Given the description of an element on the screen output the (x, y) to click on. 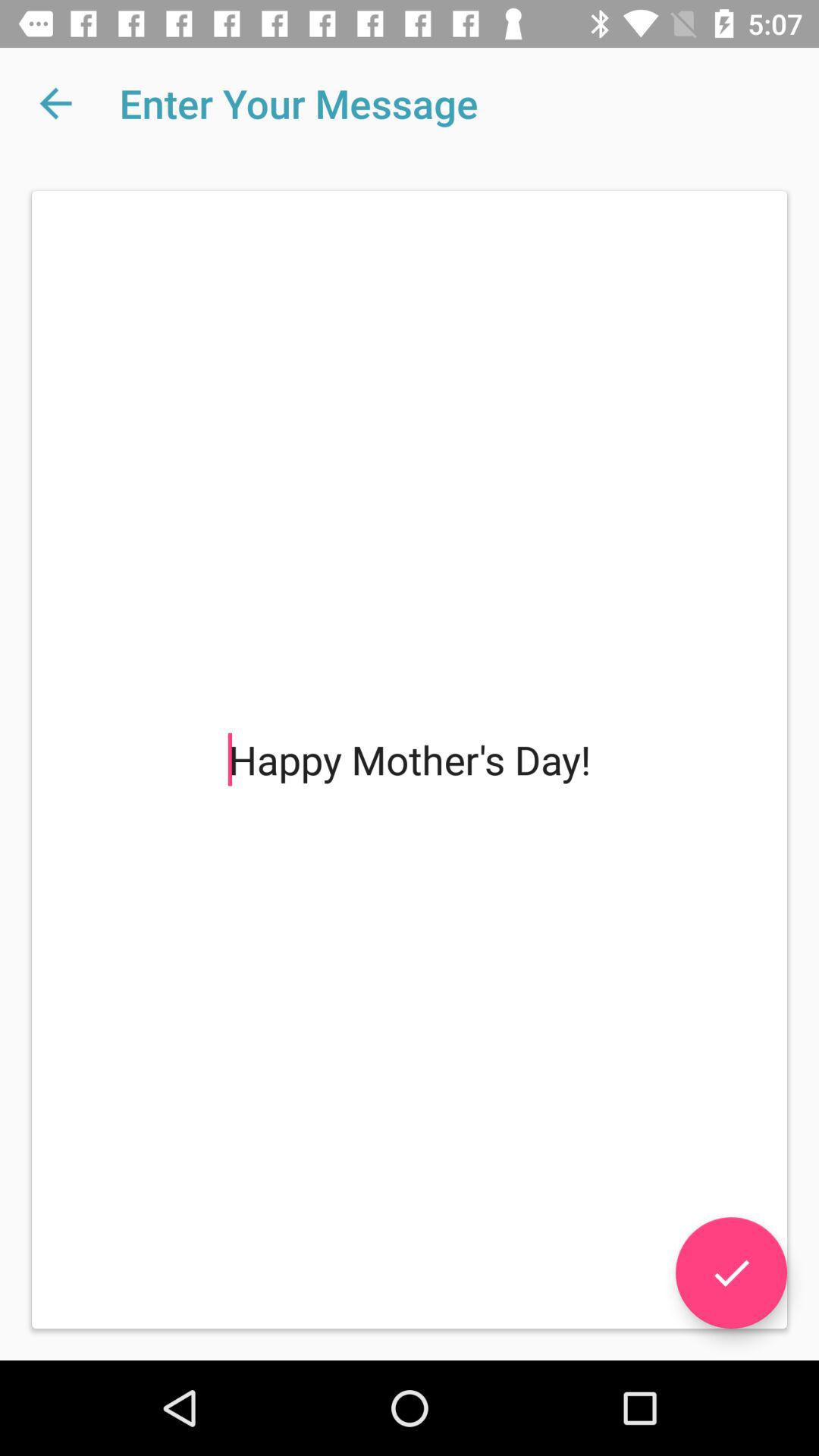
click the item to the left of enter your message app (55, 103)
